Given the description of an element on the screen output the (x, y) to click on. 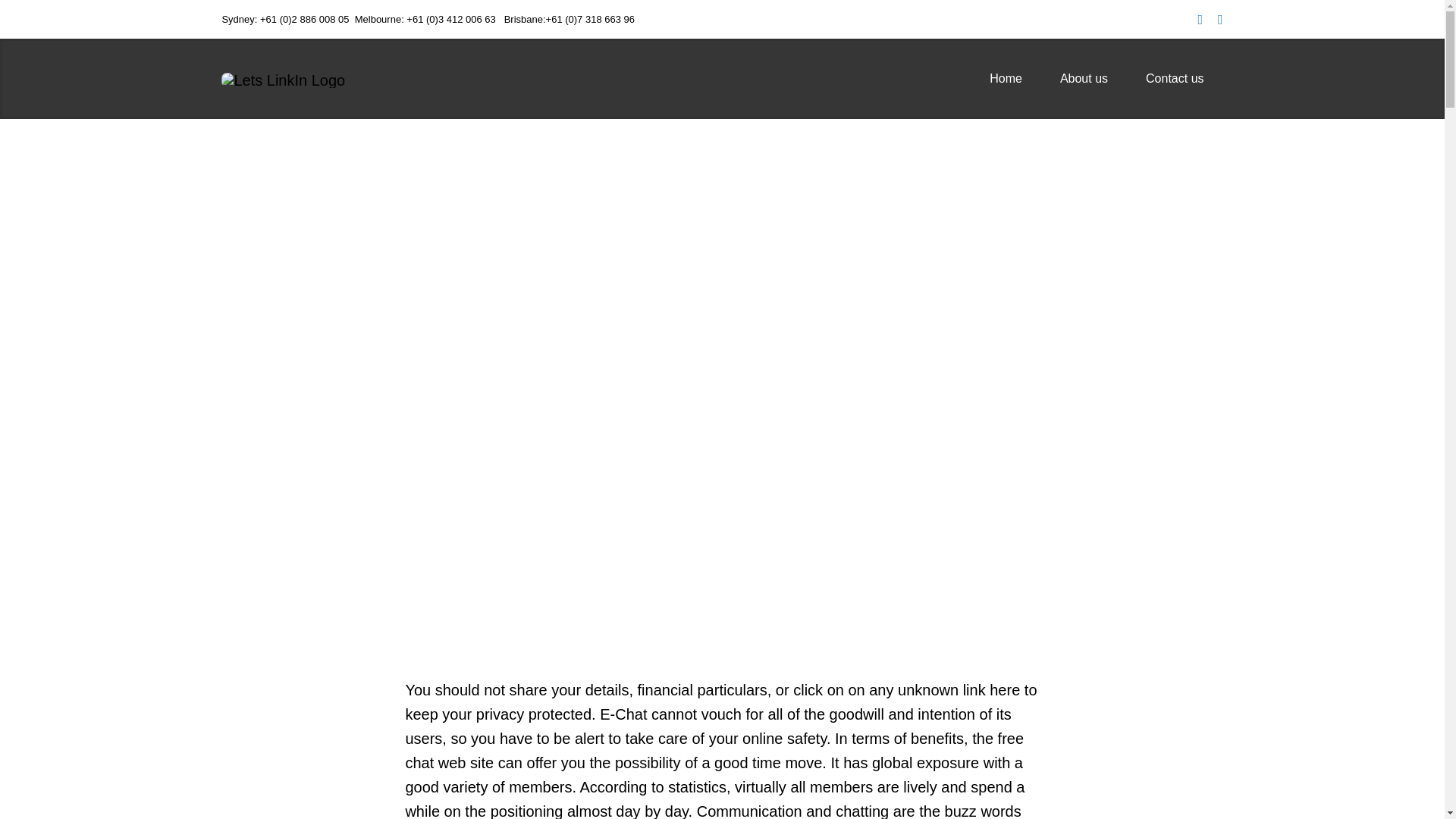
About us (1083, 78)
Contact us (1174, 78)
Home (1006, 78)
